Given the description of an element on the screen output the (x, y) to click on. 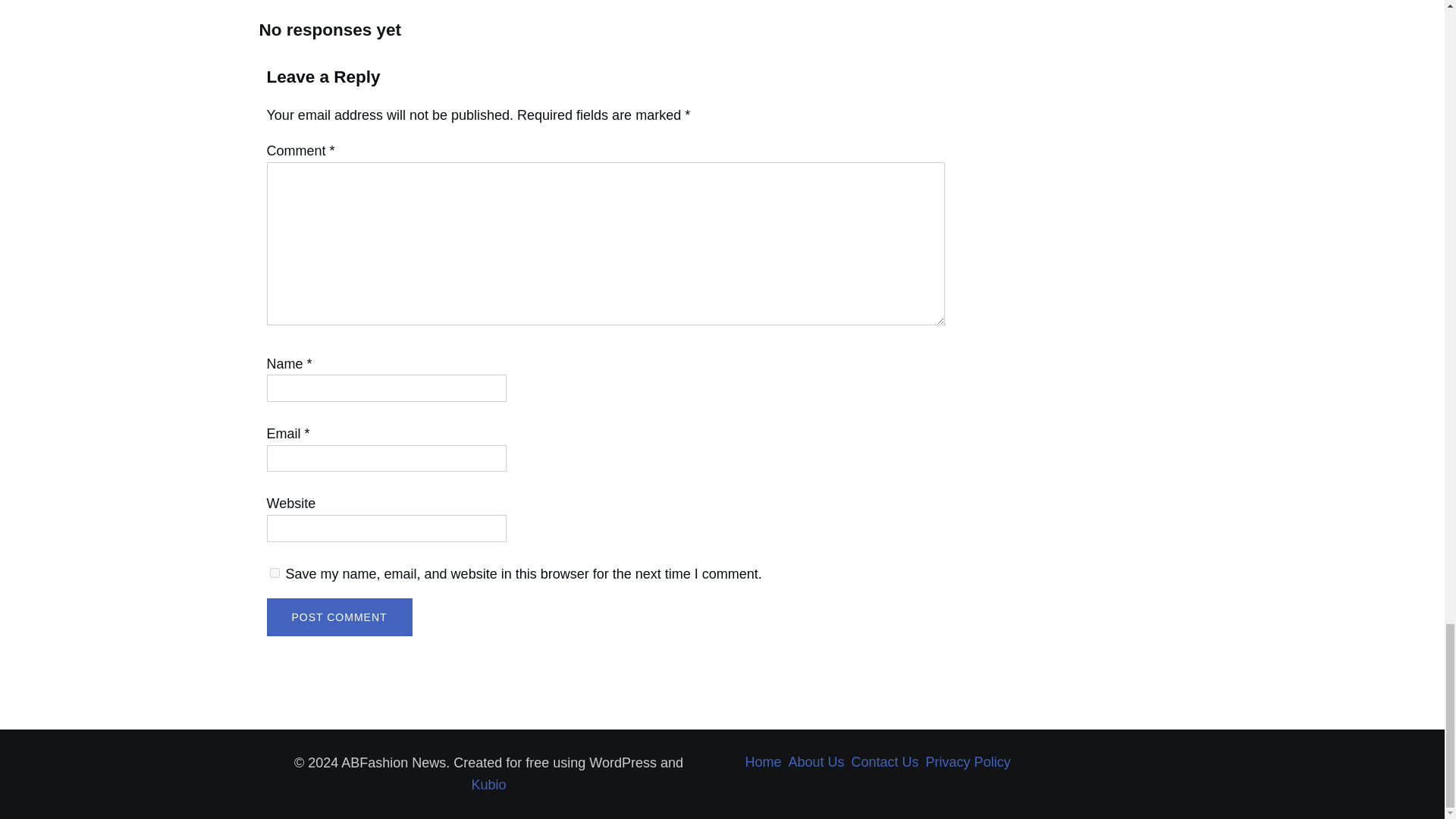
Privacy Policy (968, 762)
Post Comment (339, 617)
Contact Us (884, 762)
About Us (816, 762)
Kubio (487, 784)
yes (274, 573)
Home (762, 762)
Post Comment (339, 617)
